Given the description of an element on the screen output the (x, y) to click on. 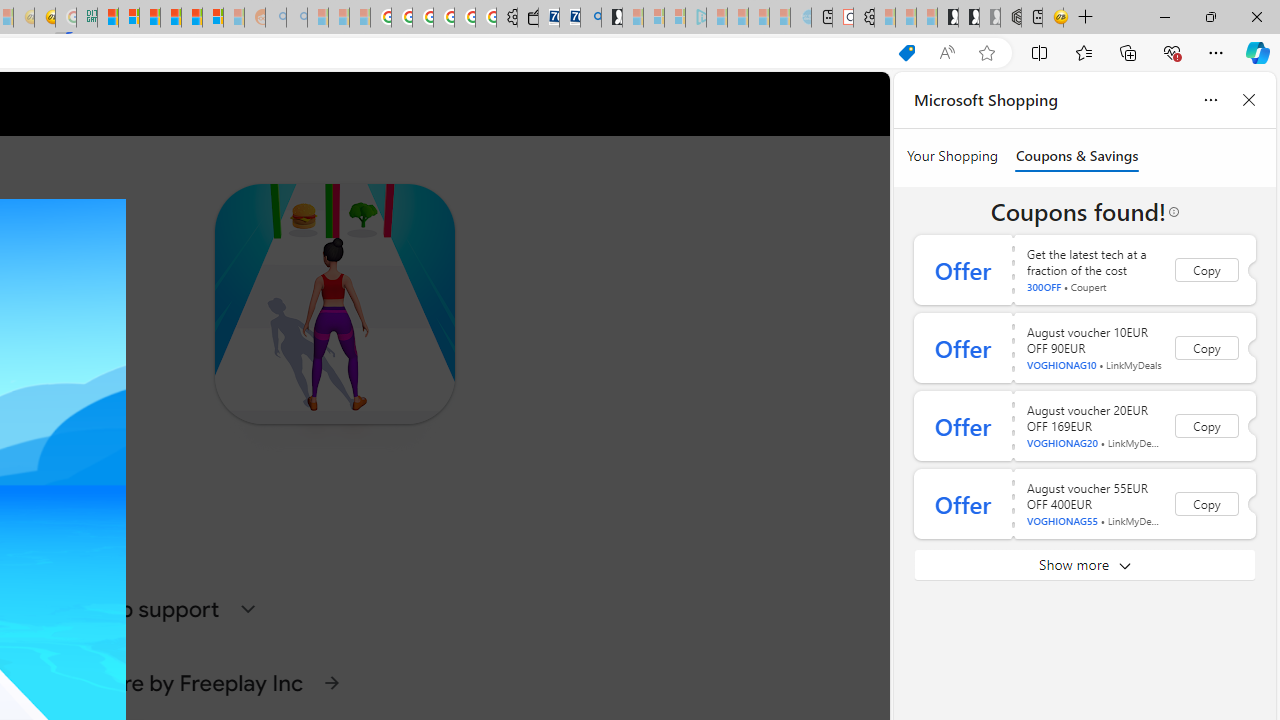
Wallet (527, 17)
This site has coupons! Shopping in Microsoft Edge (906, 53)
Expert Portfolios (170, 17)
Help Center (807, 103)
